Given the description of an element on the screen output the (x, y) to click on. 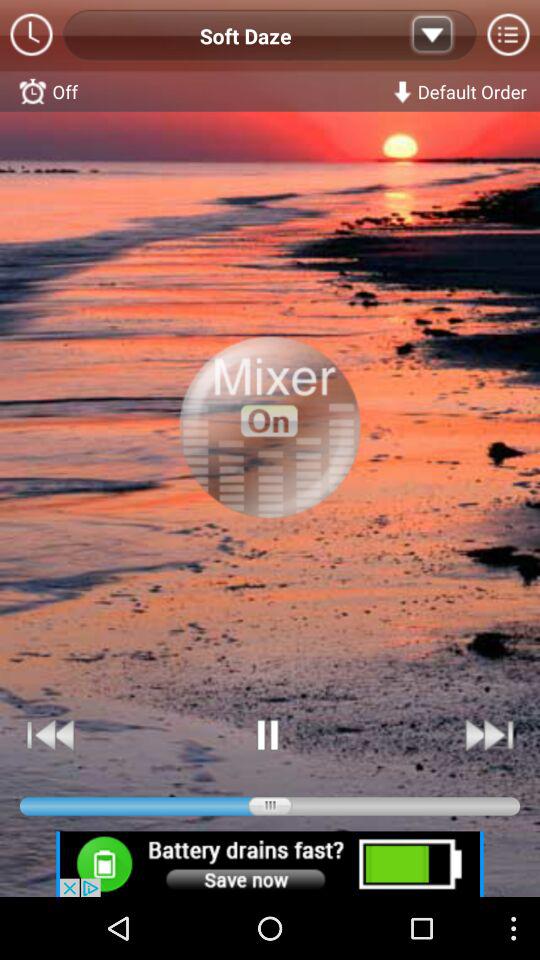
go to next track (488, 734)
